Given the description of an element on the screen output the (x, y) to click on. 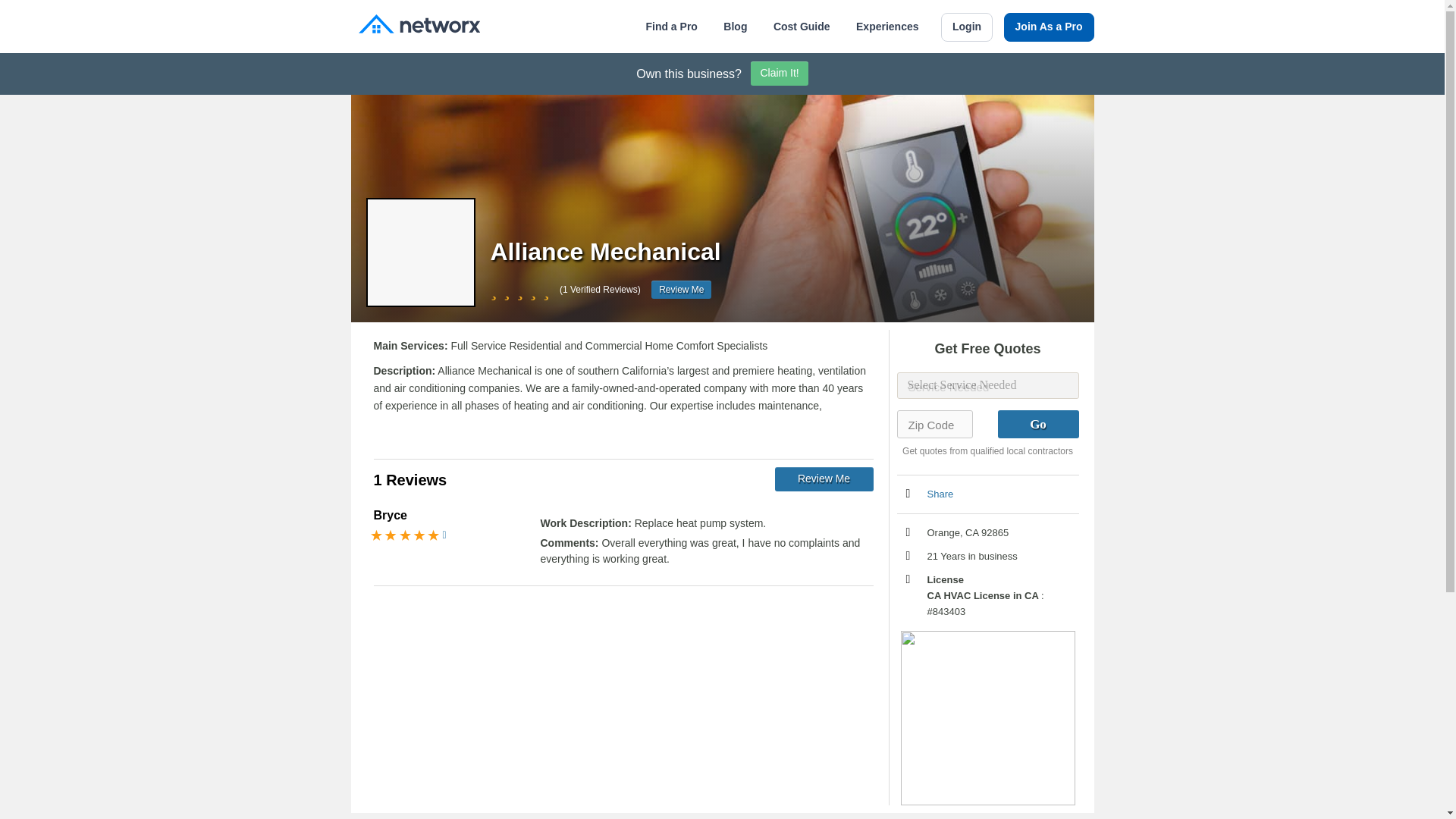
Review Me (823, 478)
Find a Pro (670, 26)
Experiences (887, 26)
Networx (418, 25)
Go (1037, 424)
Claim It! (779, 73)
Cost Guide (801, 26)
Join As a Pro (1049, 27)
Login (966, 27)
Review Me (680, 289)
